Given the description of an element on the screen output the (x, y) to click on. 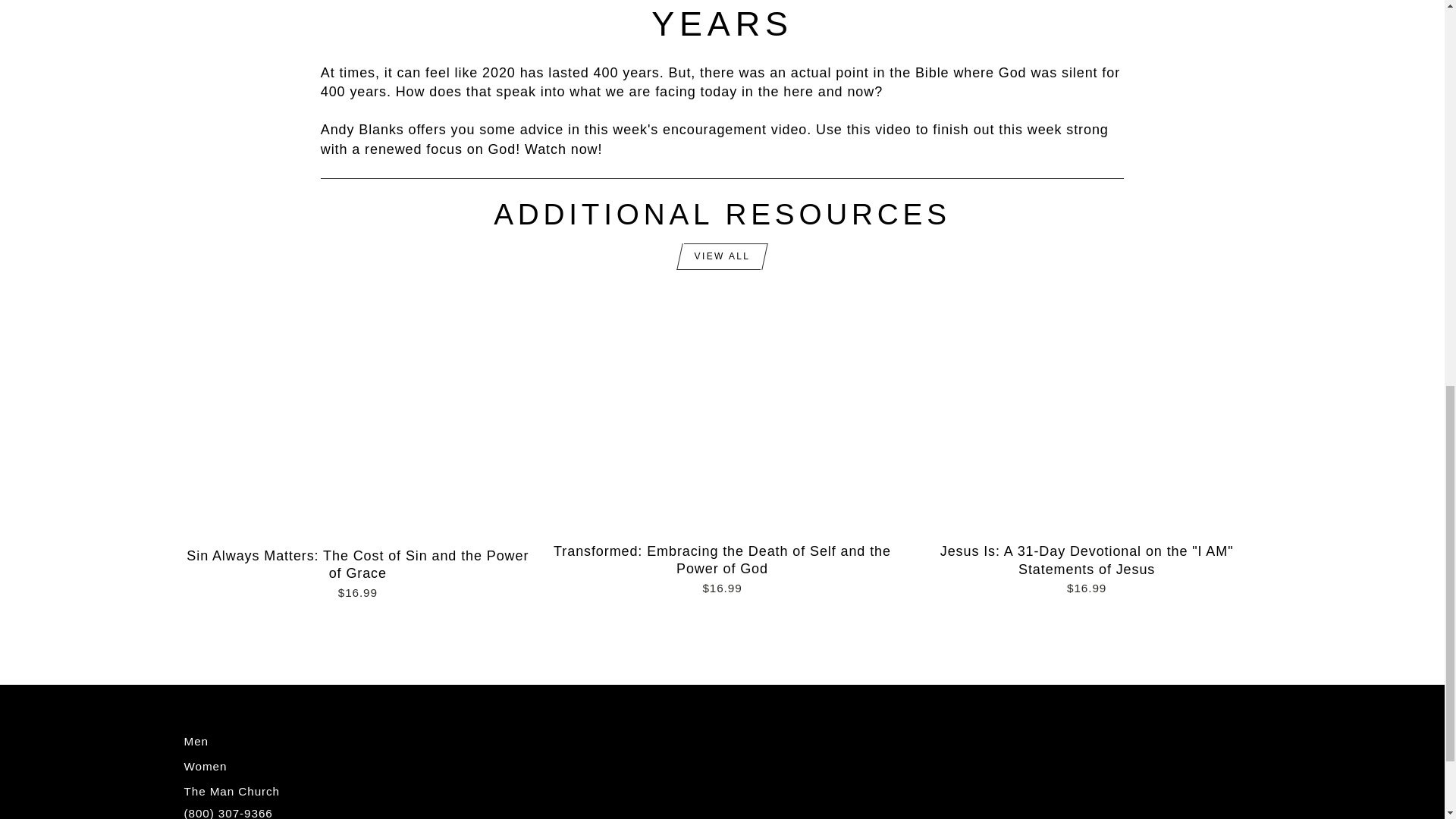
tel:18003079366 (227, 812)
